Given the description of an element on the screen output the (x, y) to click on. 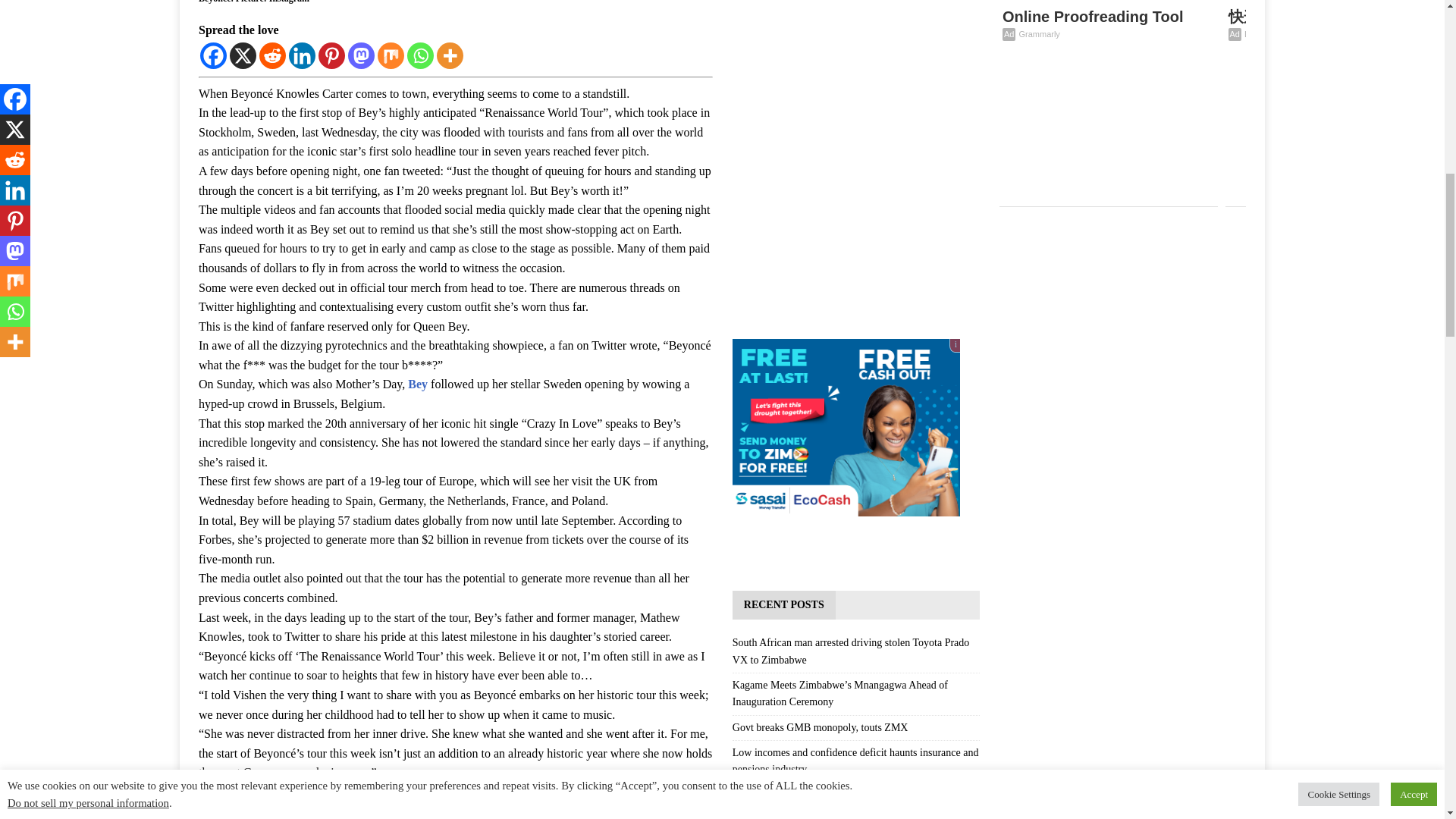
Linkedin (301, 55)
X (243, 55)
Pinterest (331, 55)
Facebook (213, 55)
Mastodon (360, 55)
Reddit (272, 55)
Mix (390, 55)
Whatsapp (420, 55)
